Given the description of an element on the screen output the (x, y) to click on. 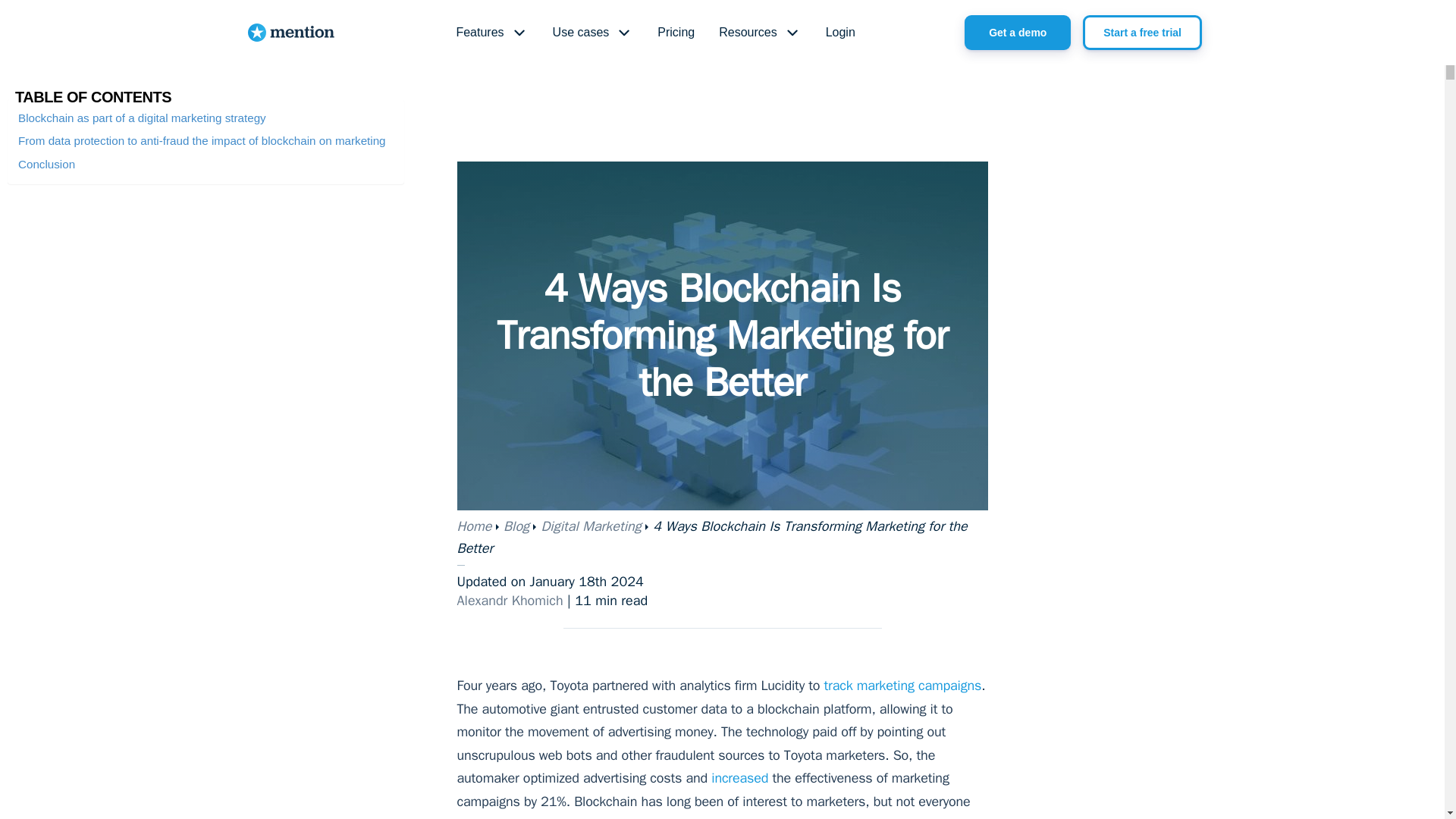
Conclusion (46, 164)
Blockchain as part of a digital marketing strategy (141, 117)
Pricing (675, 33)
